Given the description of an element on the screen output the (x, y) to click on. 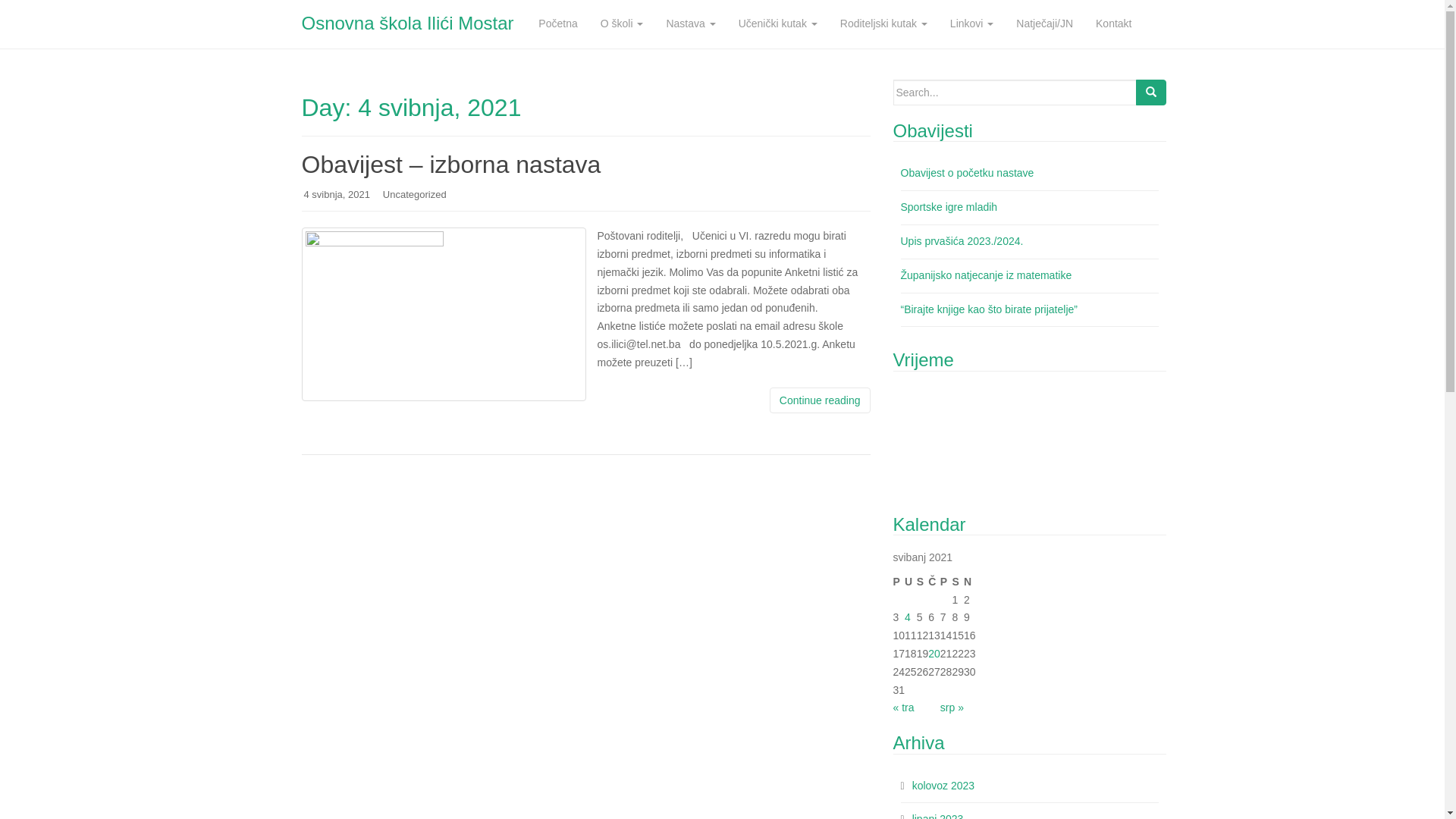
20 Element type: text (934, 653)
Sportske igre mladih Element type: text (948, 206)
kolovoz 2023 Element type: text (943, 785)
Uncategorized Element type: text (414, 194)
Search Element type: text (1150, 92)
4 Element type: text (907, 617)
Continue reading Element type: text (819, 400)
4 svibnja, 2021 Element type: text (336, 194)
